Given the description of an element on the screen output the (x, y) to click on. 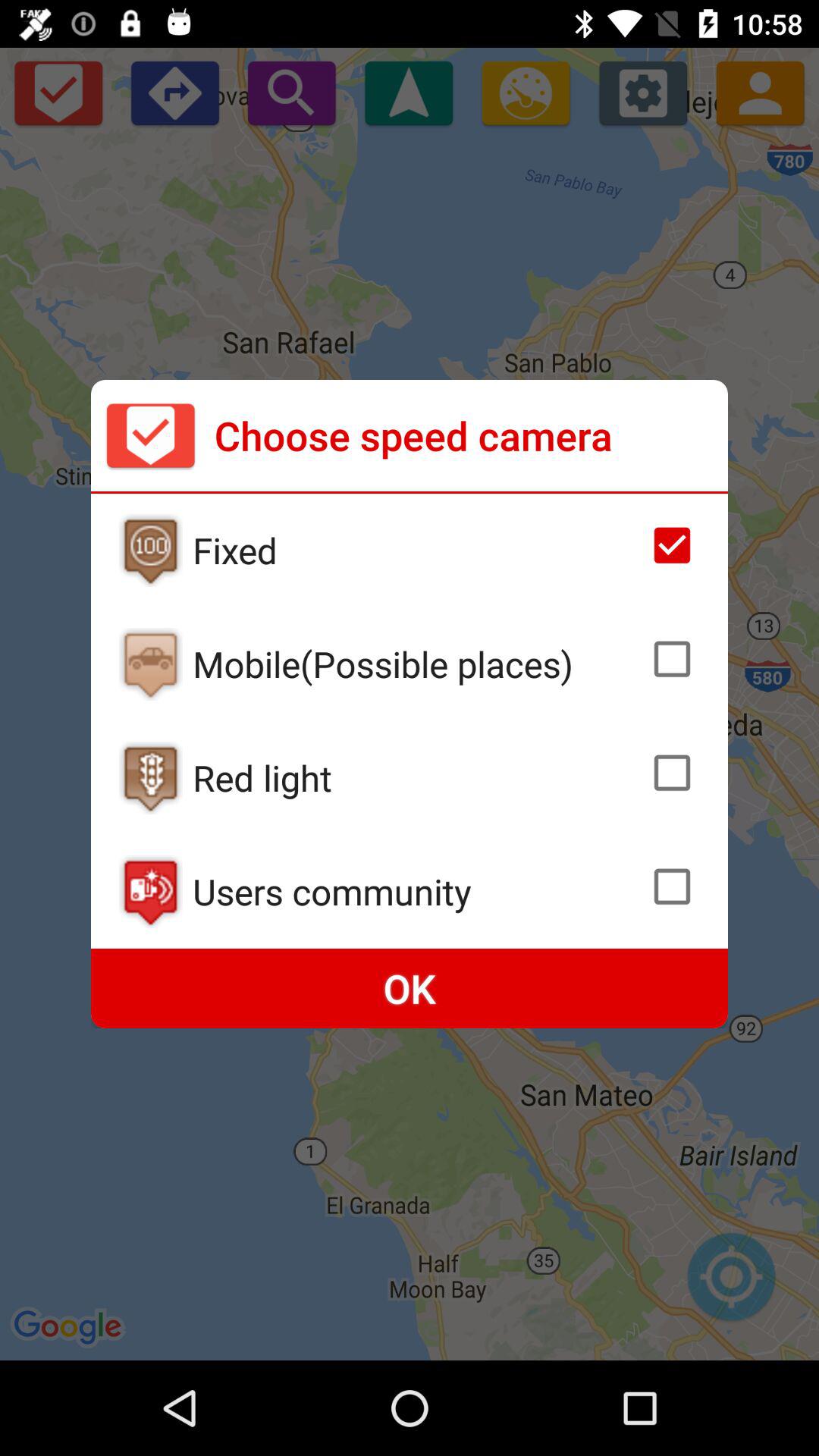
open mobile(possible places) (416, 663)
